Given the description of an element on the screen output the (x, y) to click on. 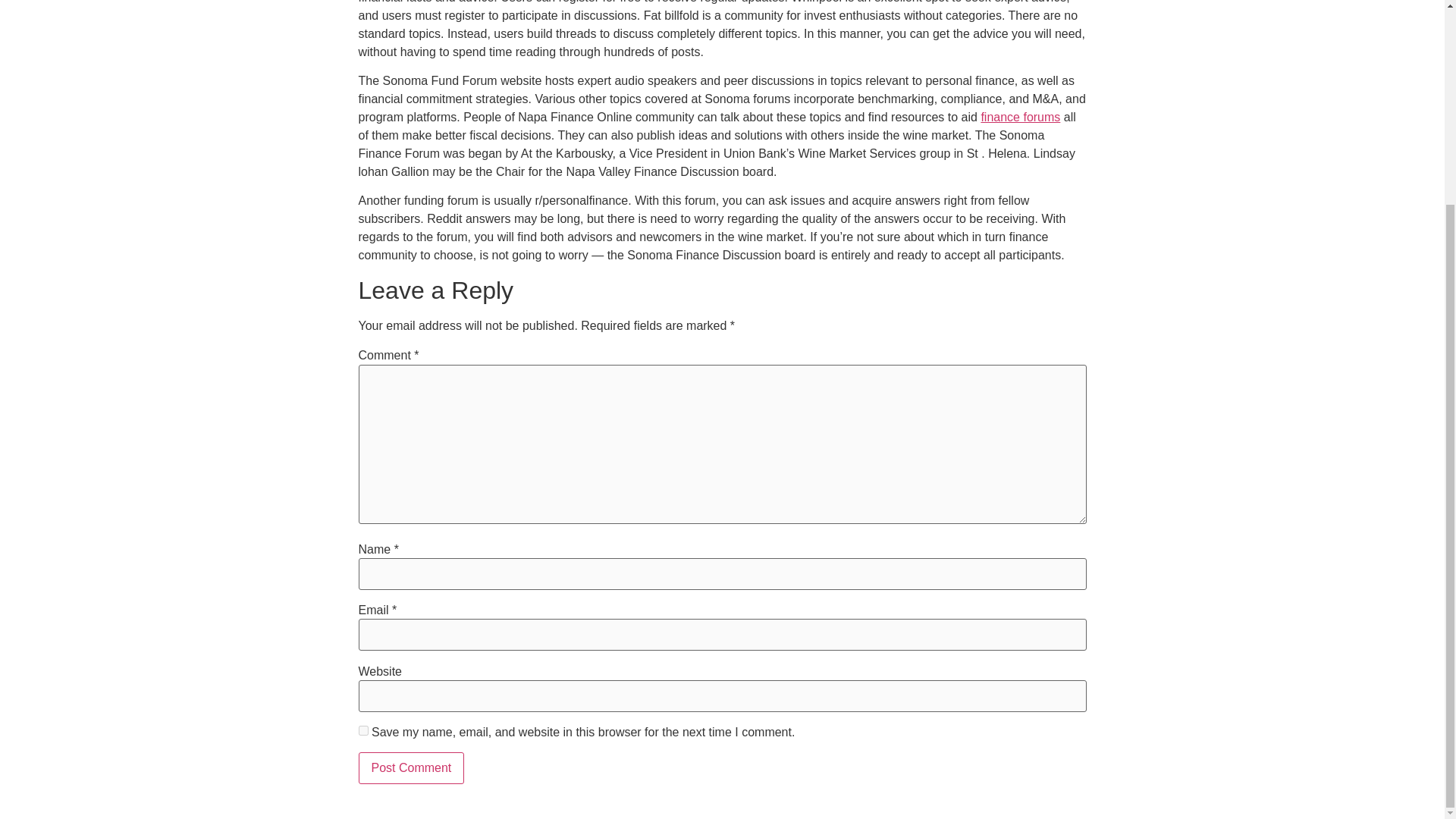
Post Comment (411, 767)
Post Comment (411, 767)
finance forums (1019, 116)
yes (363, 730)
